Given the description of an element on the screen output the (x, y) to click on. 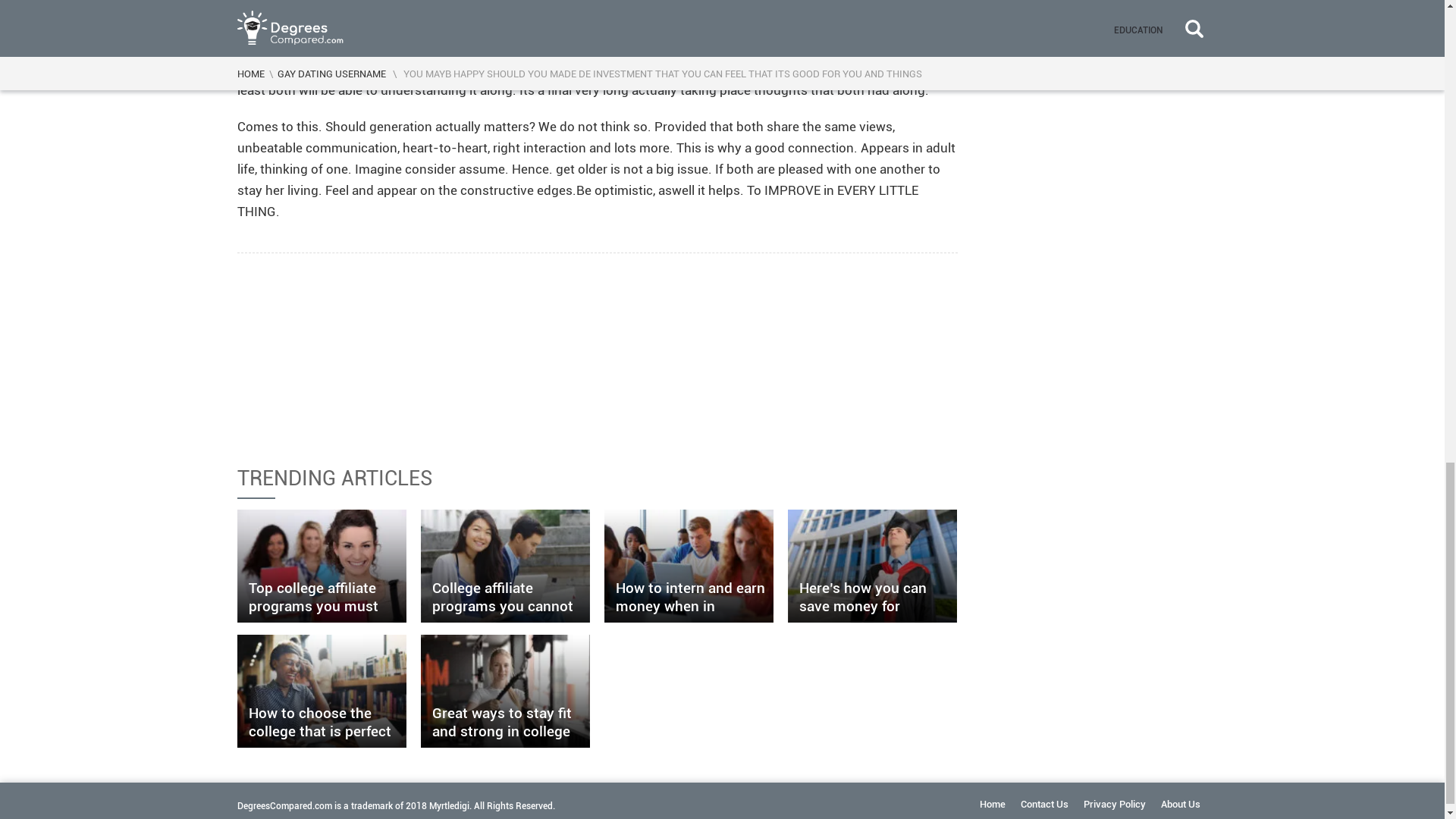
 How to choose the college that is perfect for you (321, 690)
How to choose the college that is perfect for you (321, 690)
Top college affiliate programs you must know about (321, 565)
 College affiliate programs you cannot afford to miss (504, 565)
Contact Us (1044, 804)
 Great ways to stay fit and strong in college (504, 690)
College affiliate programs you cannot afford to miss (504, 565)
Home (992, 804)
How to intern and earn money when in college (688, 565)
About Us (1179, 804)
 How to intern and earn money when in college (688, 565)
Privacy Policy (1113, 804)
Great ways to stay fit and strong in college (504, 690)
 Top college affiliate programs you must know about (321, 565)
